Given the description of an element on the screen output the (x, y) to click on. 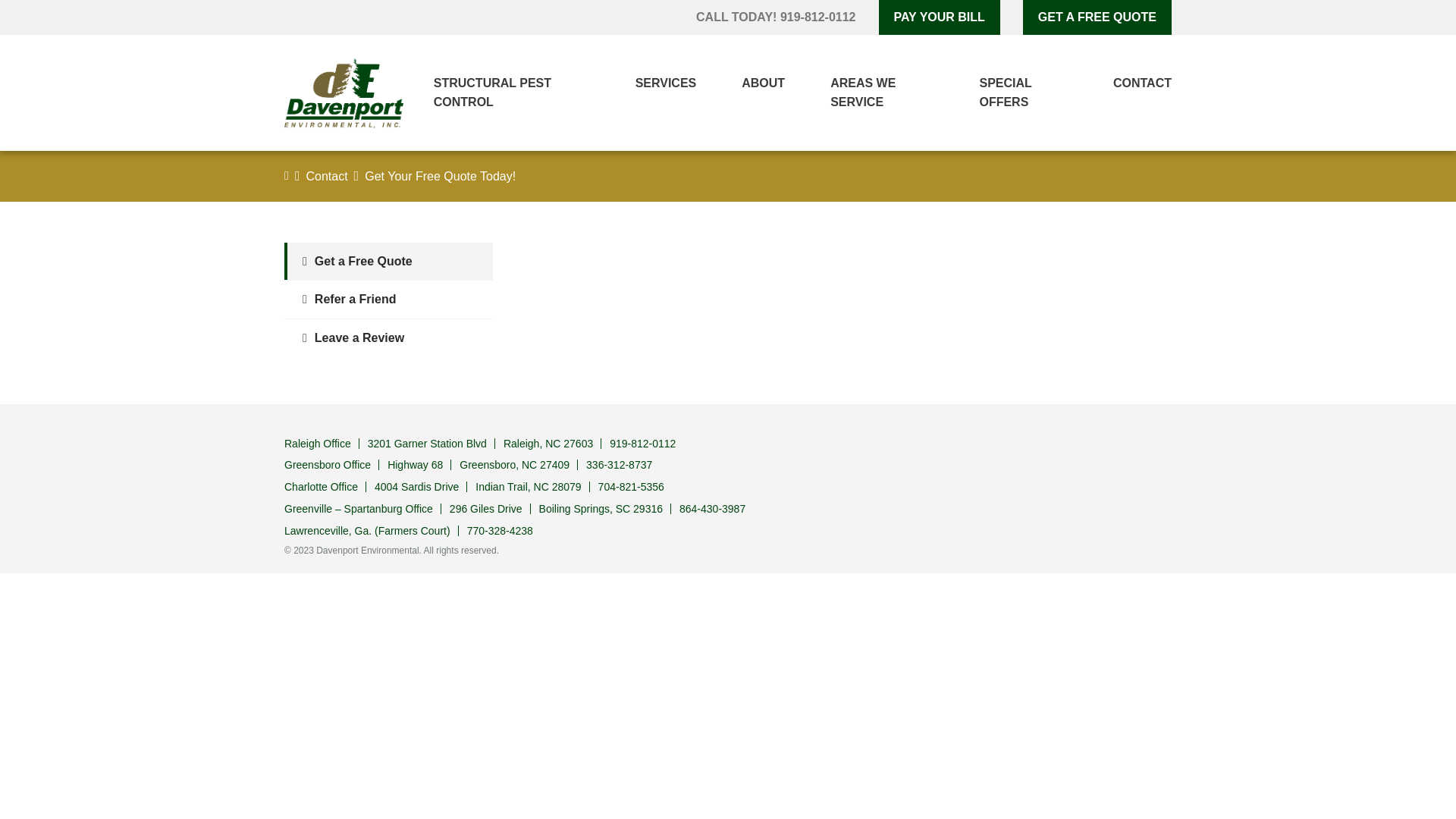
CALL TODAY! 919-812-0112 (775, 17)
ABOUT (755, 83)
SPECIAL OFFERS (1016, 92)
AREAS WE SERVICE (874, 92)
Davenport Environmental, Inc., Lawn Maintenance, Raleigh, NC (1134, 448)
GET A FREE QUOTE (1097, 17)
SERVICES (658, 83)
CONTACT (1127, 83)
STRUCTURAL PEST CONTROL (504, 92)
PAY YOUR BILL (939, 17)
